Given the description of an element on the screen output the (x, y) to click on. 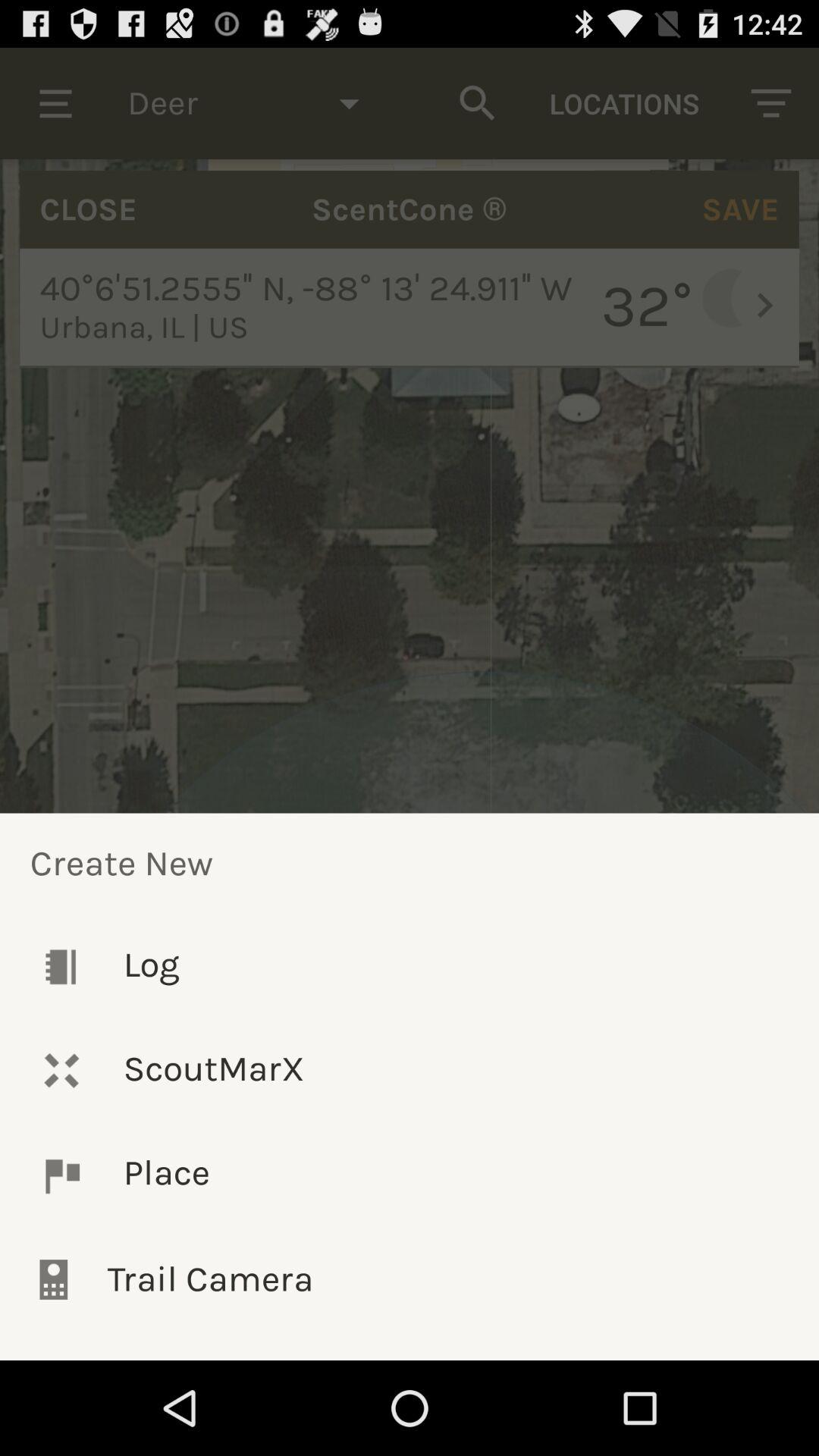
open scoutmarx icon (409, 1070)
